Given the description of an element on the screen output the (x, y) to click on. 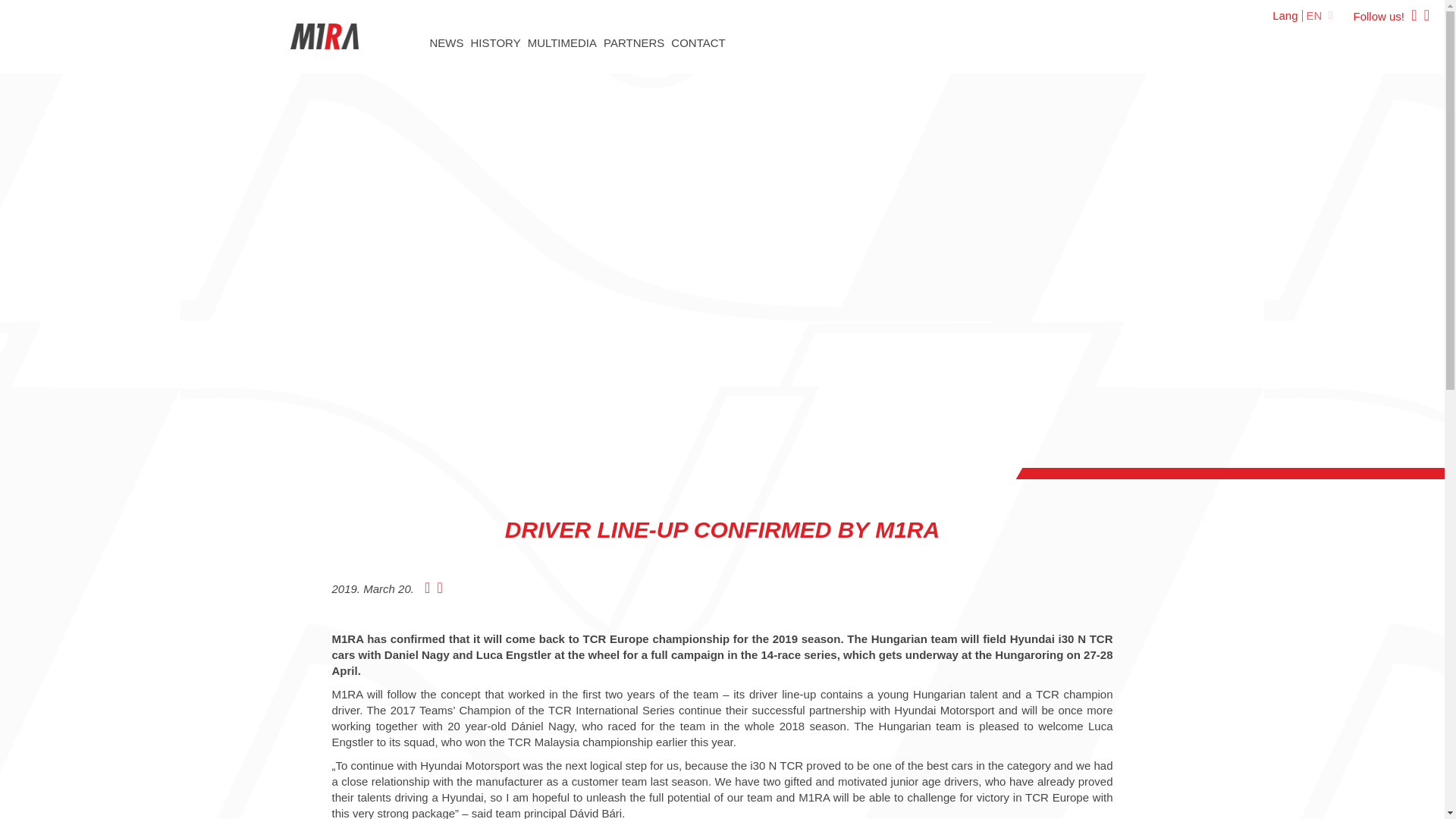
MULTIMEDIA (561, 42)
CONTACT (698, 42)
PARTNERS (633, 42)
HISTORY (494, 42)
NEWS (446, 42)
